Given the description of an element on the screen output the (x, y) to click on. 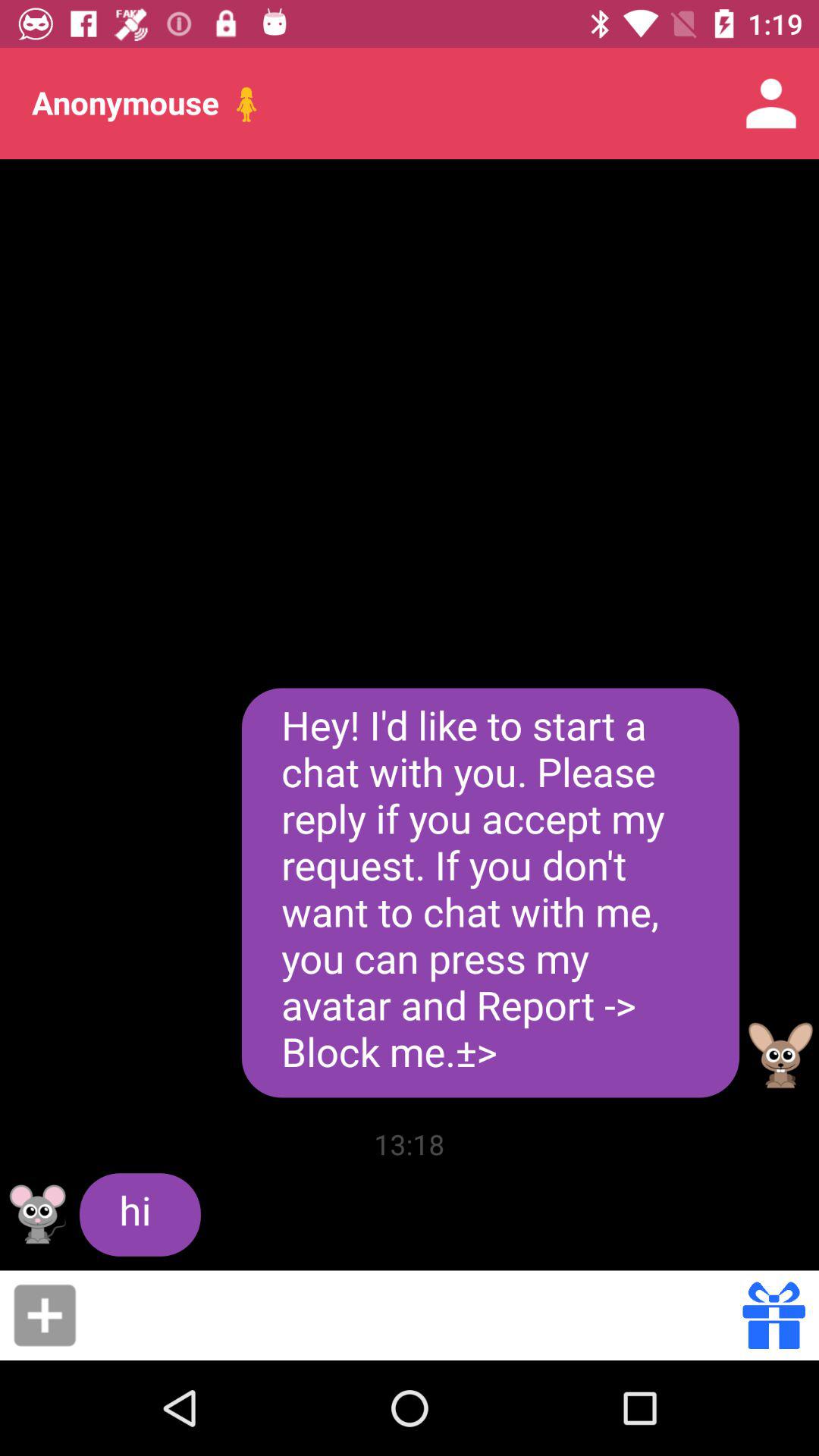
my avatar (38, 1214)
